Given the description of an element on the screen output the (x, y) to click on. 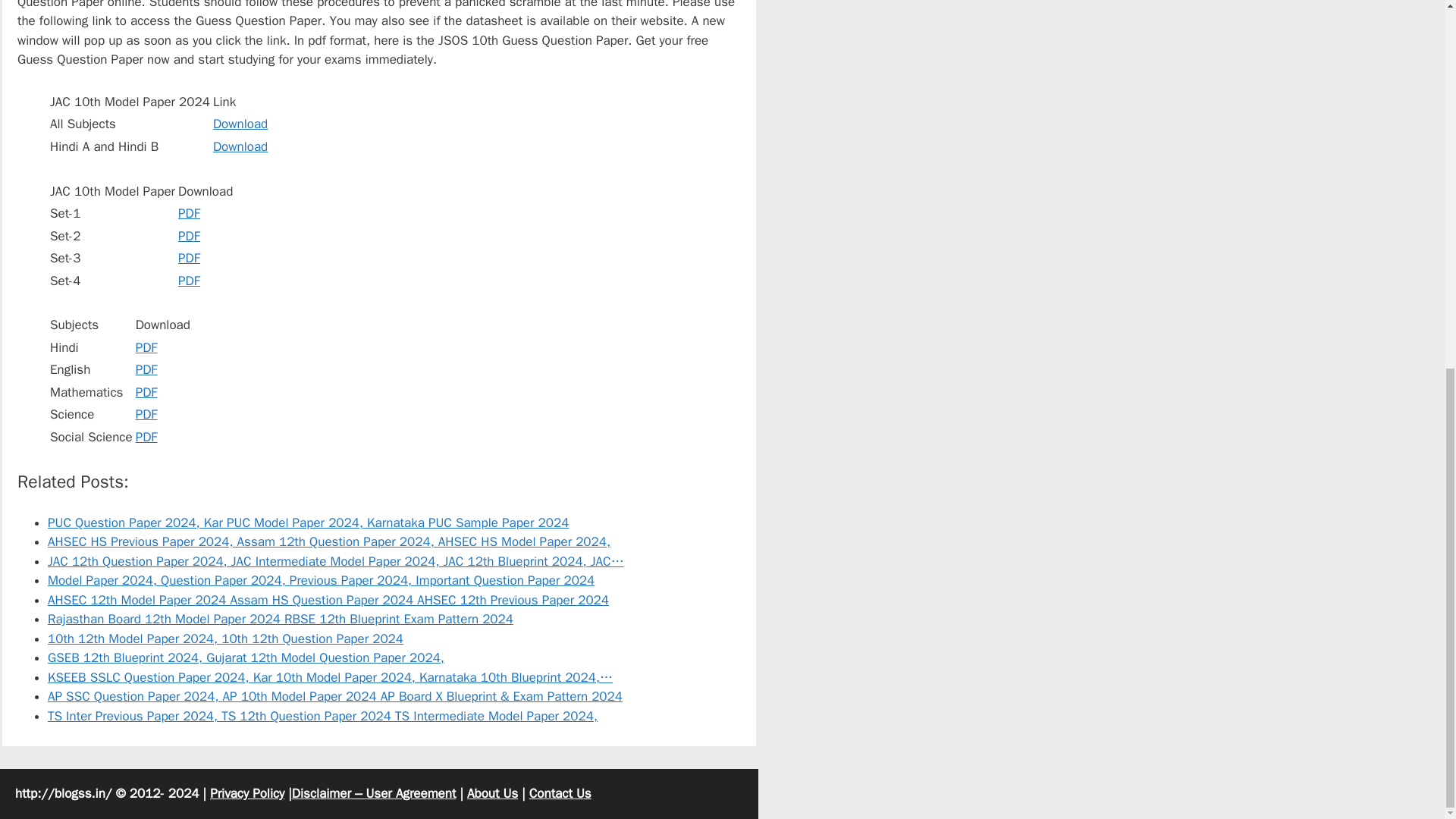
10th 12th Model Paper 2024, 10th 12th Question Paper 2024 (225, 638)
Download (239, 146)
About Us (492, 793)
Privacy Policy (246, 793)
PDF (146, 369)
PDF (146, 347)
